Given the description of an element on the screen output the (x, y) to click on. 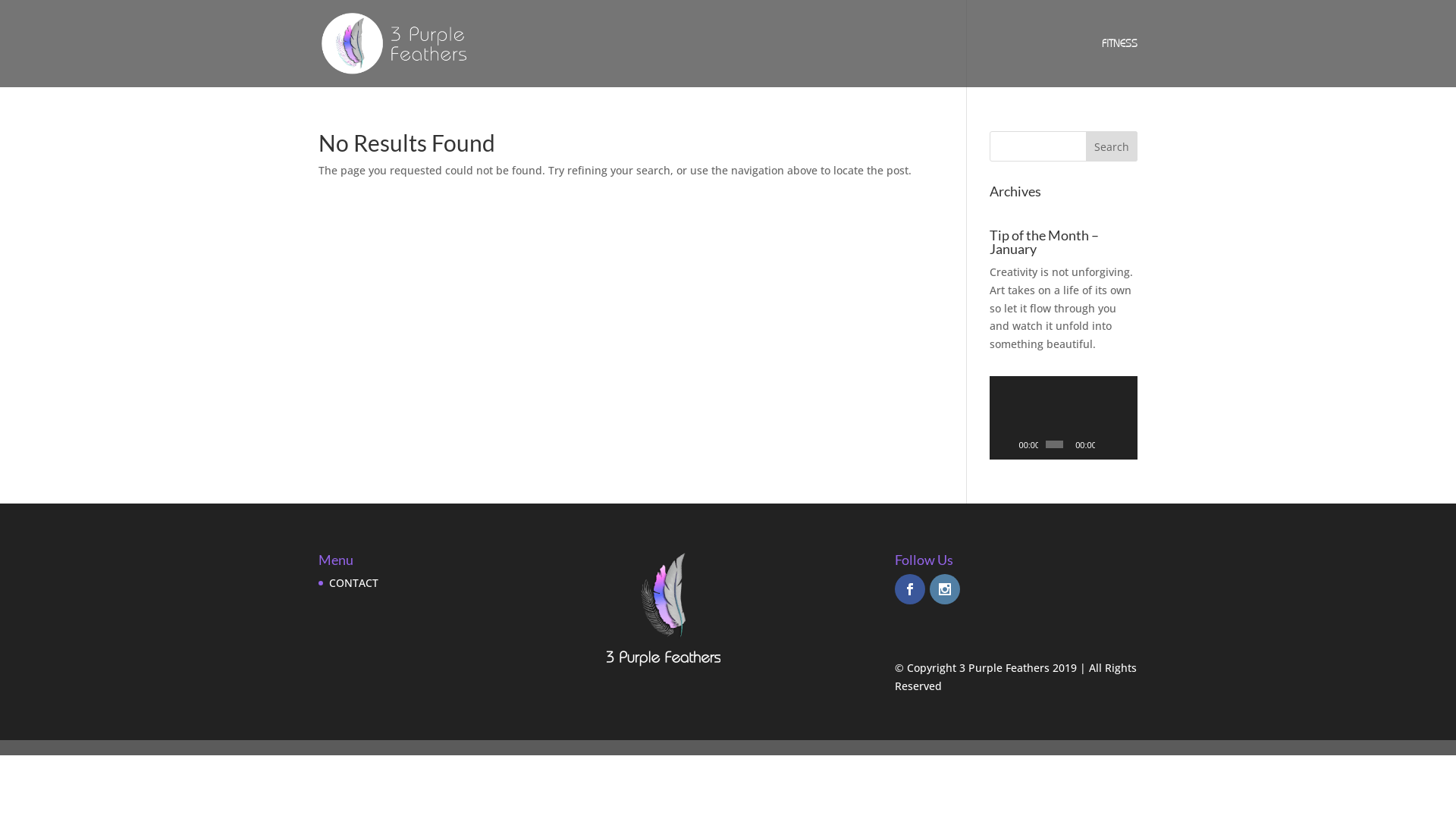
Mute Element type: hover (1106, 443)
CONTACT Element type: text (353, 582)
Search Element type: text (1111, 146)
FITNESS Element type: text (1119, 62)
Play Element type: hover (1008, 443)
Fullscreen Element type: hover (1124, 443)
